Given the description of an element on the screen output the (x, y) to click on. 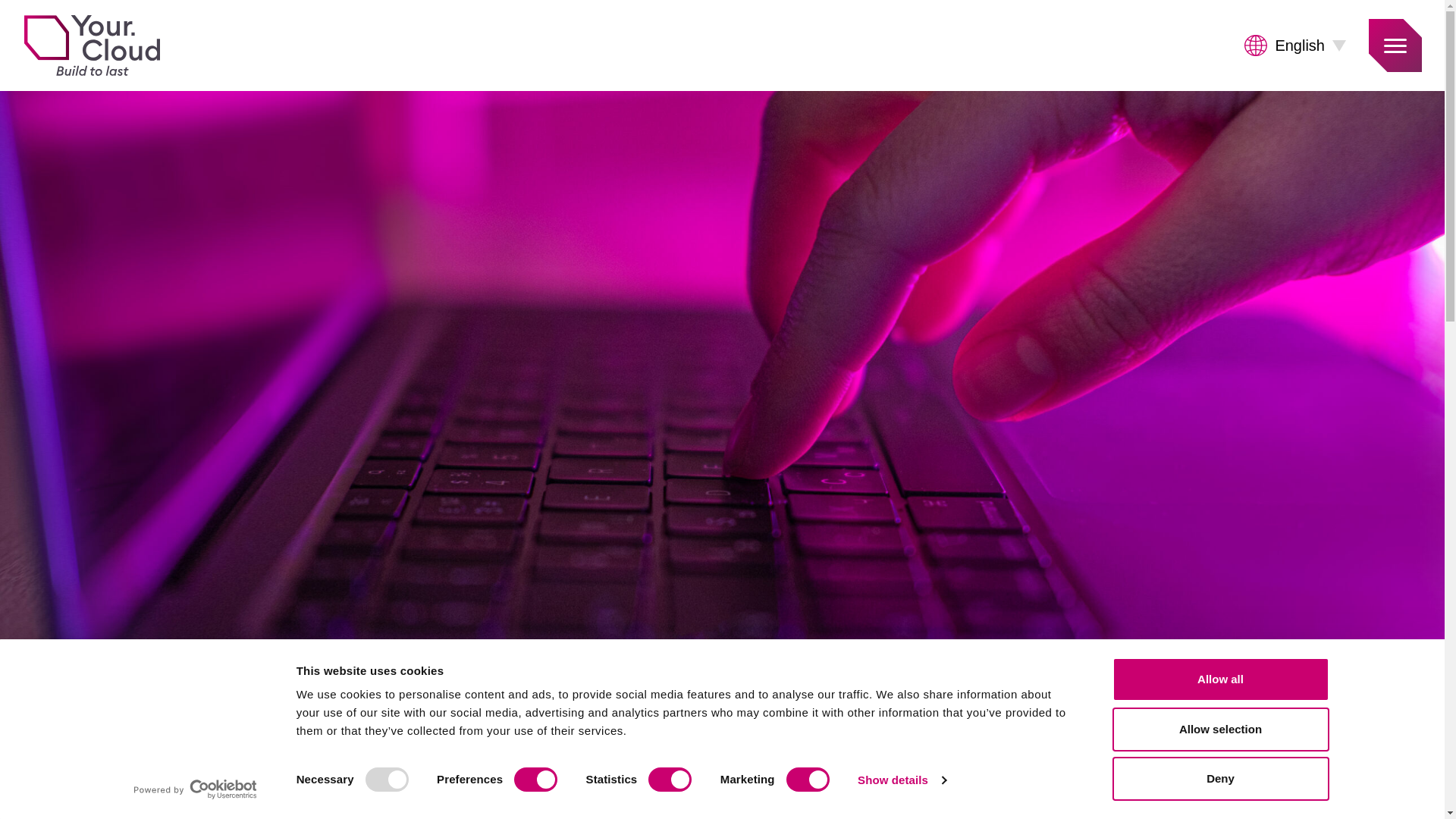
Deny (1219, 778)
Allow selection (1219, 728)
Show details (900, 780)
Your.Cloud (91, 45)
Allow all (1219, 679)
